Given the description of an element on the screen output the (x, y) to click on. 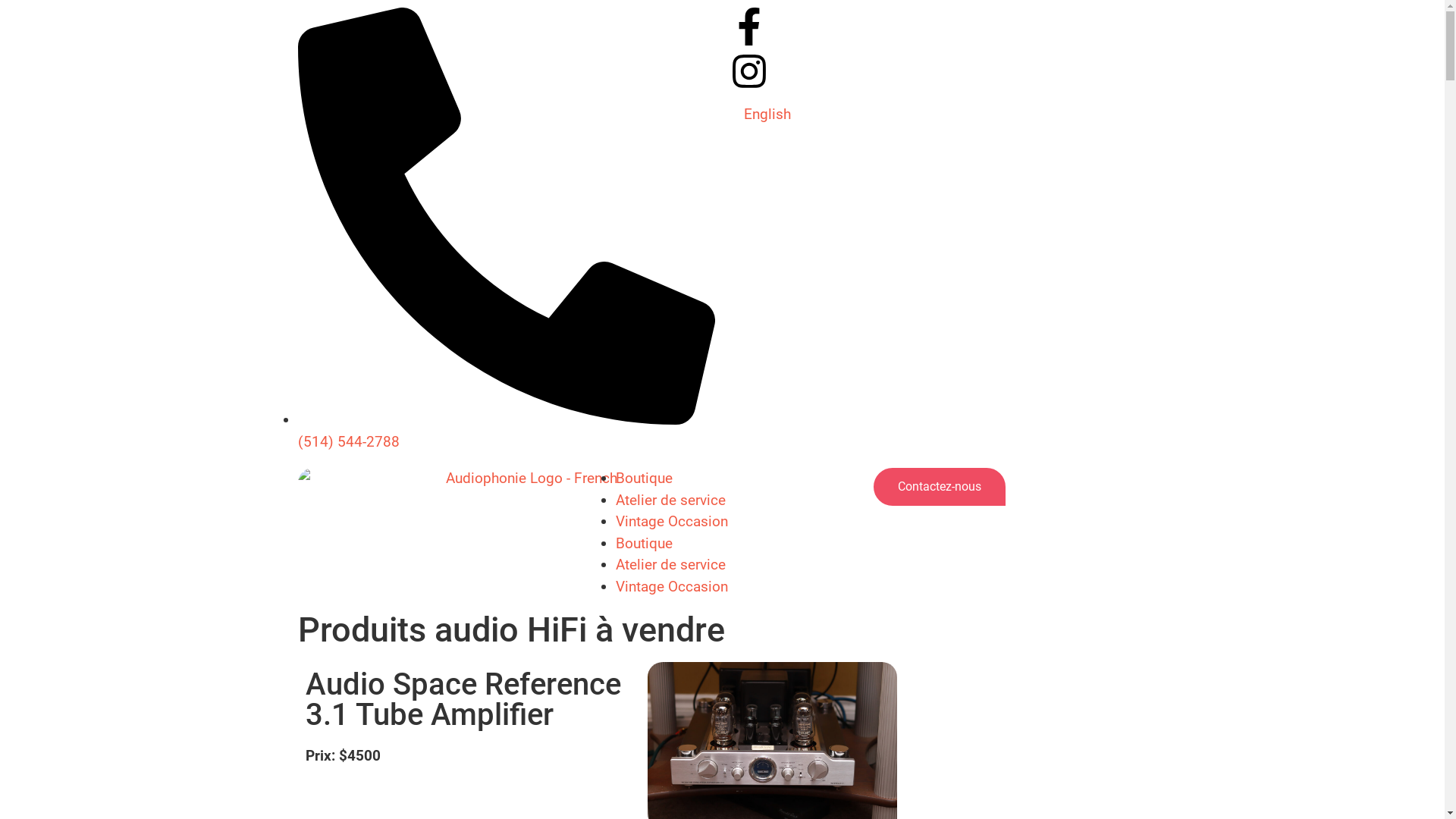
Atelier de service Element type: text (670, 499)
Atelier de service Element type: text (670, 564)
(514) 544-2788 Element type: text (505, 430)
Vintage Occasion Element type: text (671, 521)
Contactez-nous Element type: text (939, 486)
Boutique Element type: text (643, 542)
English Element type: text (766, 113)
Vintage Occasion Element type: text (671, 586)
Boutique Element type: text (643, 477)
